Given the description of an element on the screen output the (x, y) to click on. 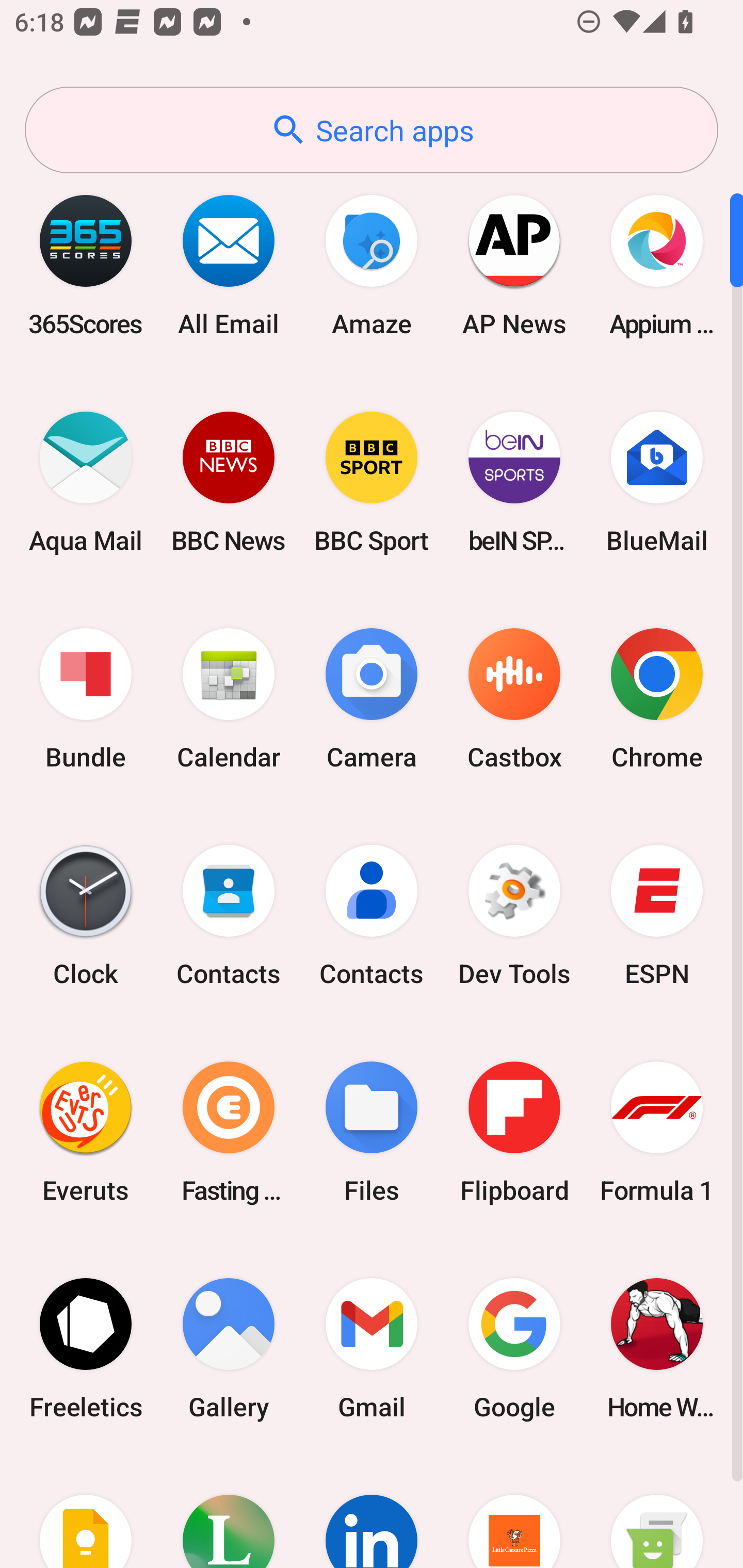
  Search apps (371, 130)
365Scores (85, 264)
All Email (228, 264)
Amaze (371, 264)
AP News (514, 264)
Appium Settings (656, 264)
Aqua Mail (85, 482)
BBC News (228, 482)
BBC Sport (371, 482)
beIN SPORTS (514, 482)
BlueMail (656, 482)
Bundle (85, 699)
Calendar (228, 699)
Camera (371, 699)
Castbox (514, 699)
Chrome (656, 699)
Clock (85, 915)
Contacts (228, 915)
Contacts (371, 915)
Dev Tools (514, 915)
ESPN (656, 915)
Everuts (85, 1131)
Fasting Coach (228, 1131)
Files (371, 1131)
Flipboard (514, 1131)
Formula 1 (656, 1131)
Freeletics (85, 1348)
Gallery (228, 1348)
Gmail (371, 1348)
Google (514, 1348)
Home Workout (656, 1348)
